Given the description of an element on the screen output the (x, y) to click on. 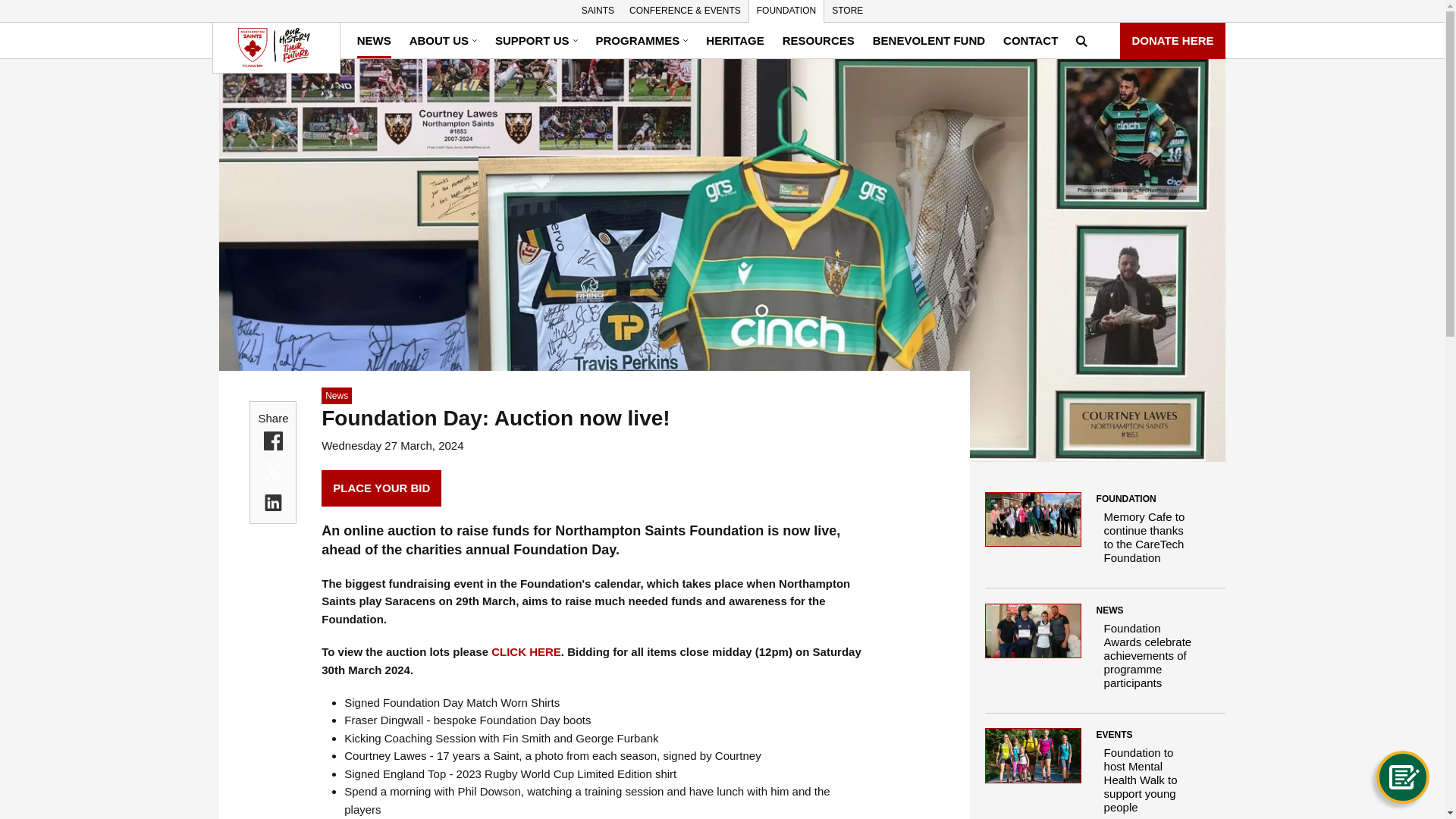
STORE (847, 11)
SAINTS (597, 11)
FOUNDATION (786, 11)
